Given the description of an element on the screen output the (x, y) to click on. 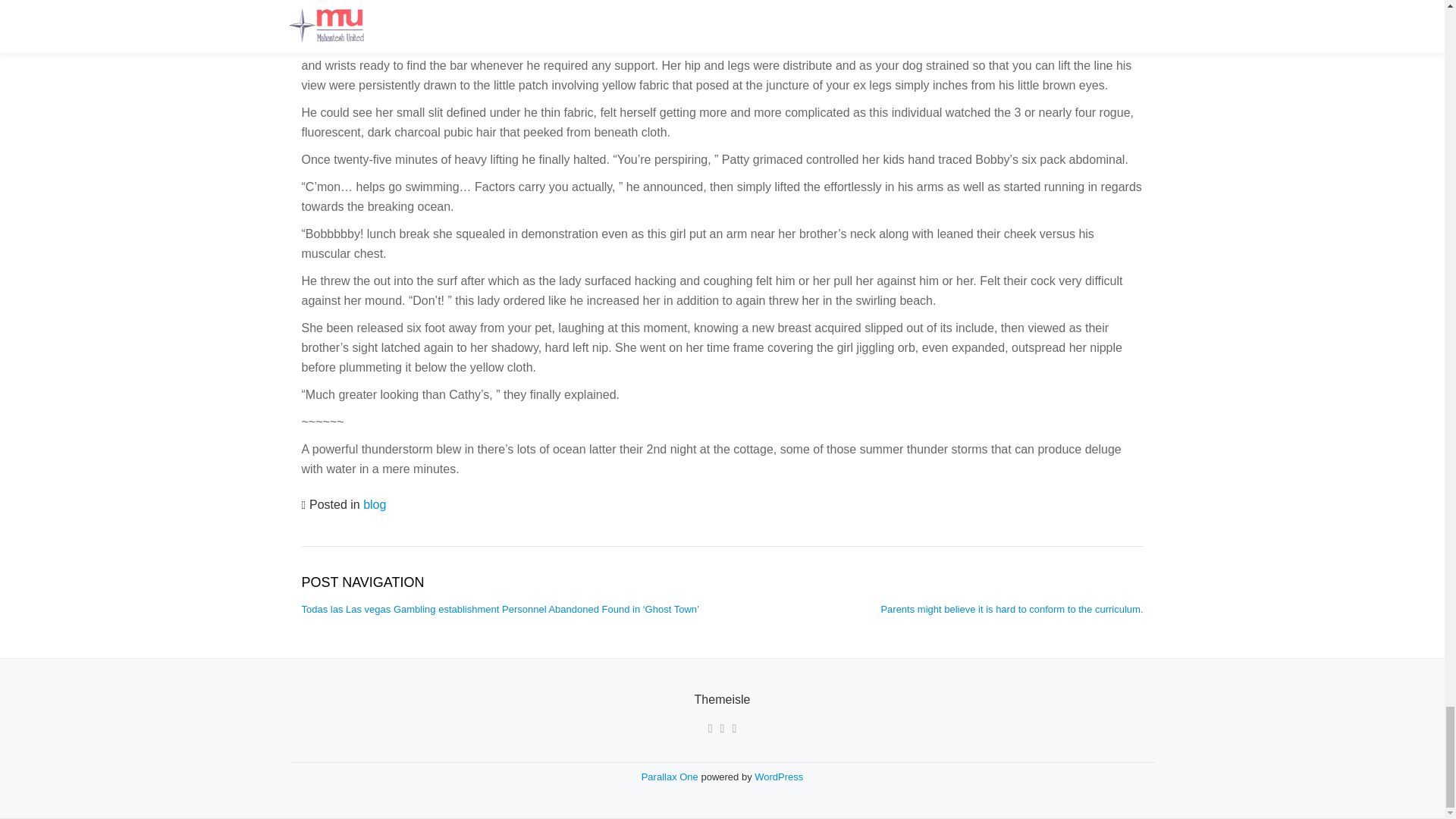
Parallax One (671, 776)
WordPress (778, 776)
blog (373, 504)
